Given the description of an element on the screen output the (x, y) to click on. 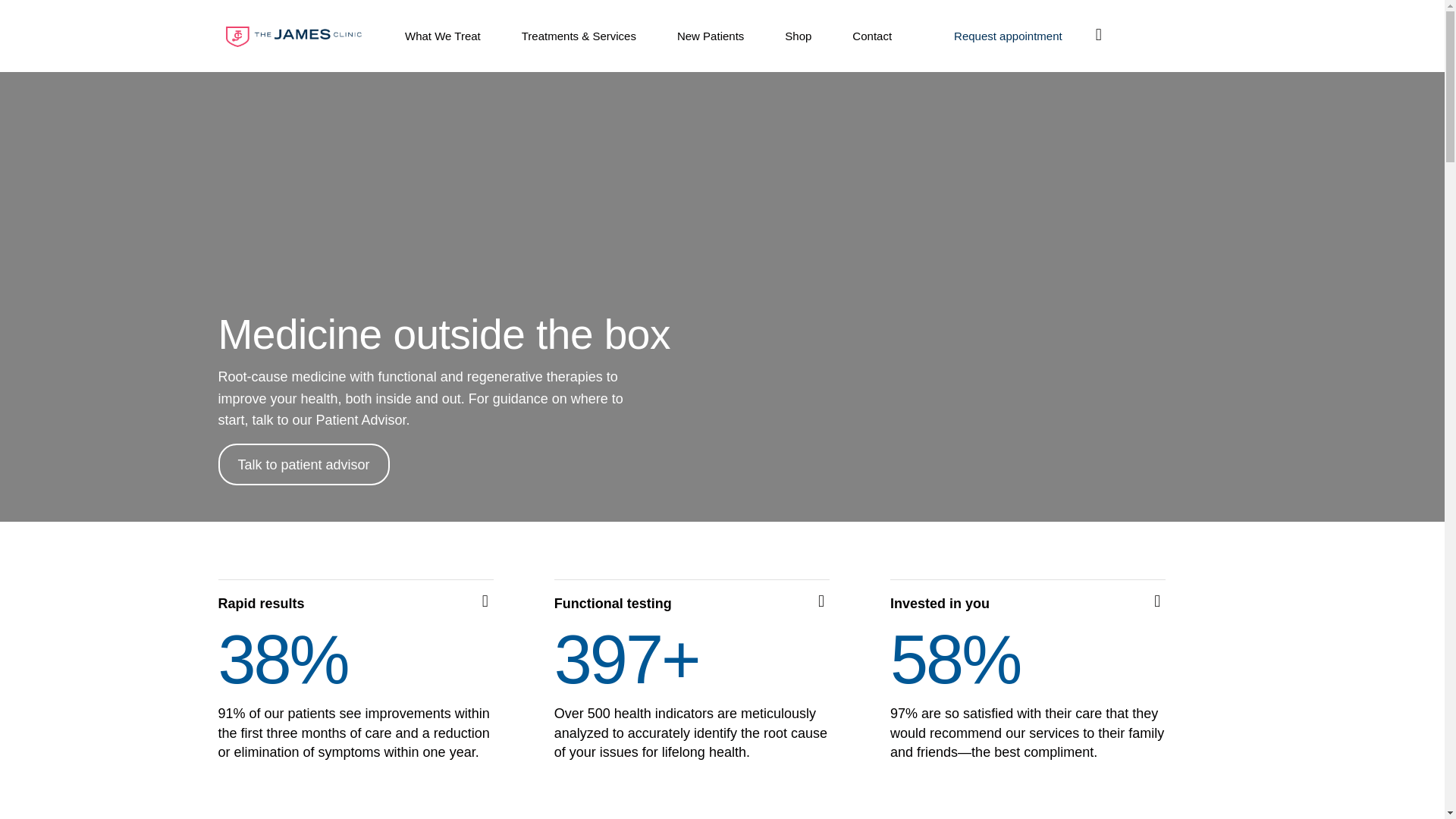
What We Treat (442, 35)
Shop (797, 35)
Contact (871, 35)
New Patients (710, 35)
